Given the description of an element on the screen output the (x, y) to click on. 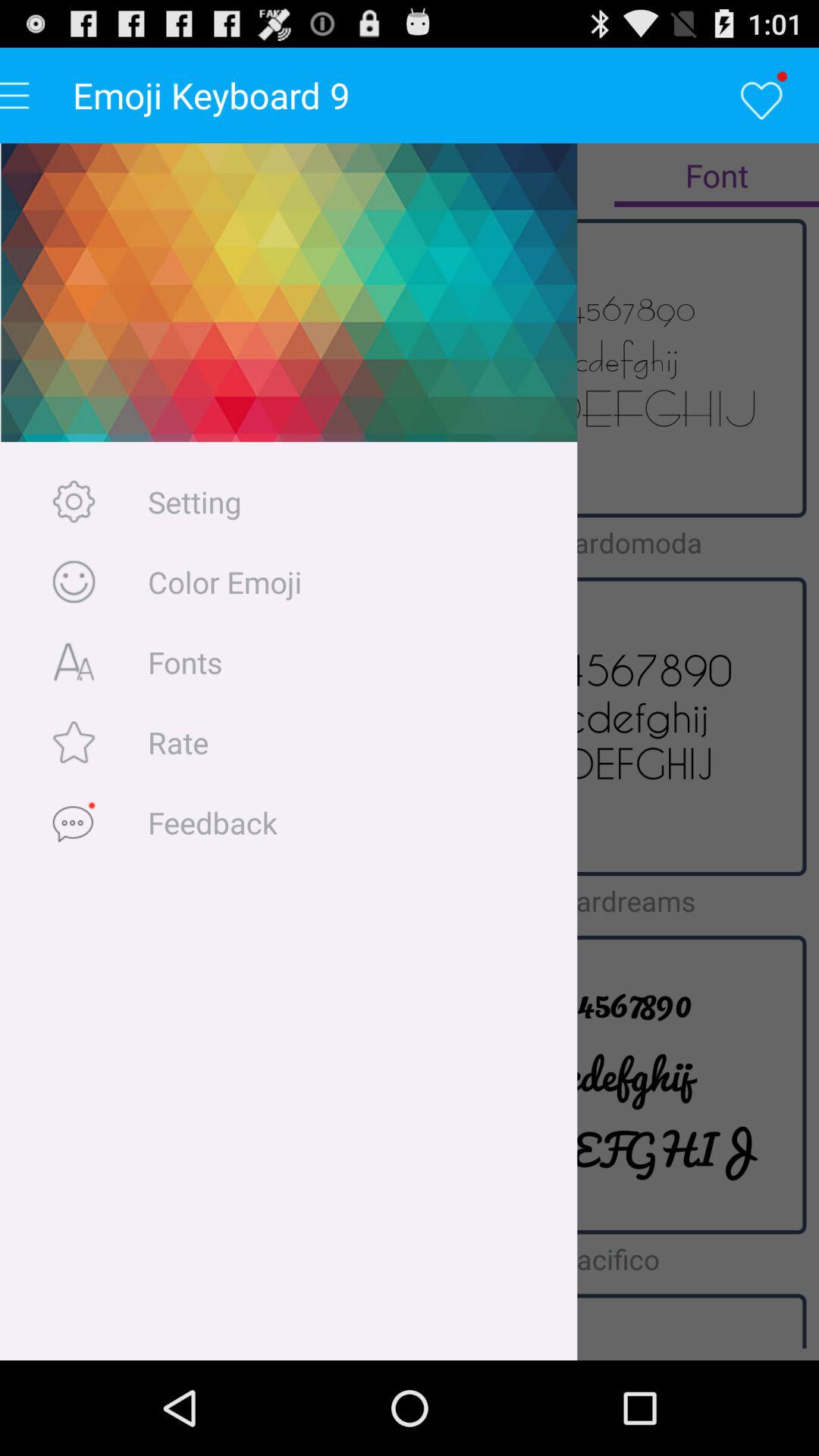
select the smiley emoji next to color emoji (73, 581)
click the heart logo below 101 (763, 95)
